Given the description of an element on the screen output the (x, y) to click on. 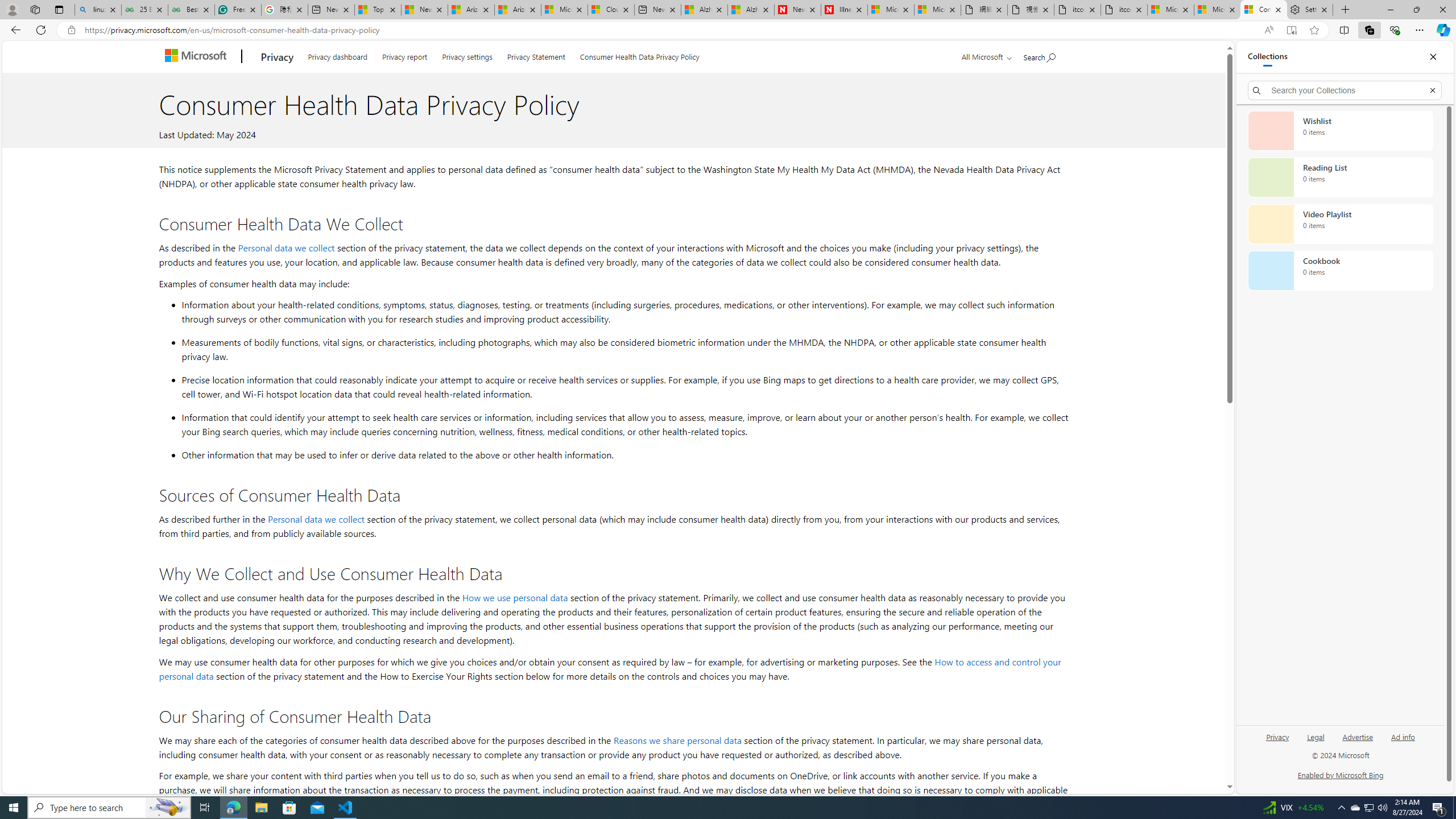
Illness news & latest pictures from Newsweek.com (844, 9)
Privacy report (404, 54)
Consumer Health Data Privacy Policy (639, 54)
Consumer Health Data Privacy Policy (1263, 9)
News - MSN (424, 9)
